Given the description of an element on the screen output the (x, y) to click on. 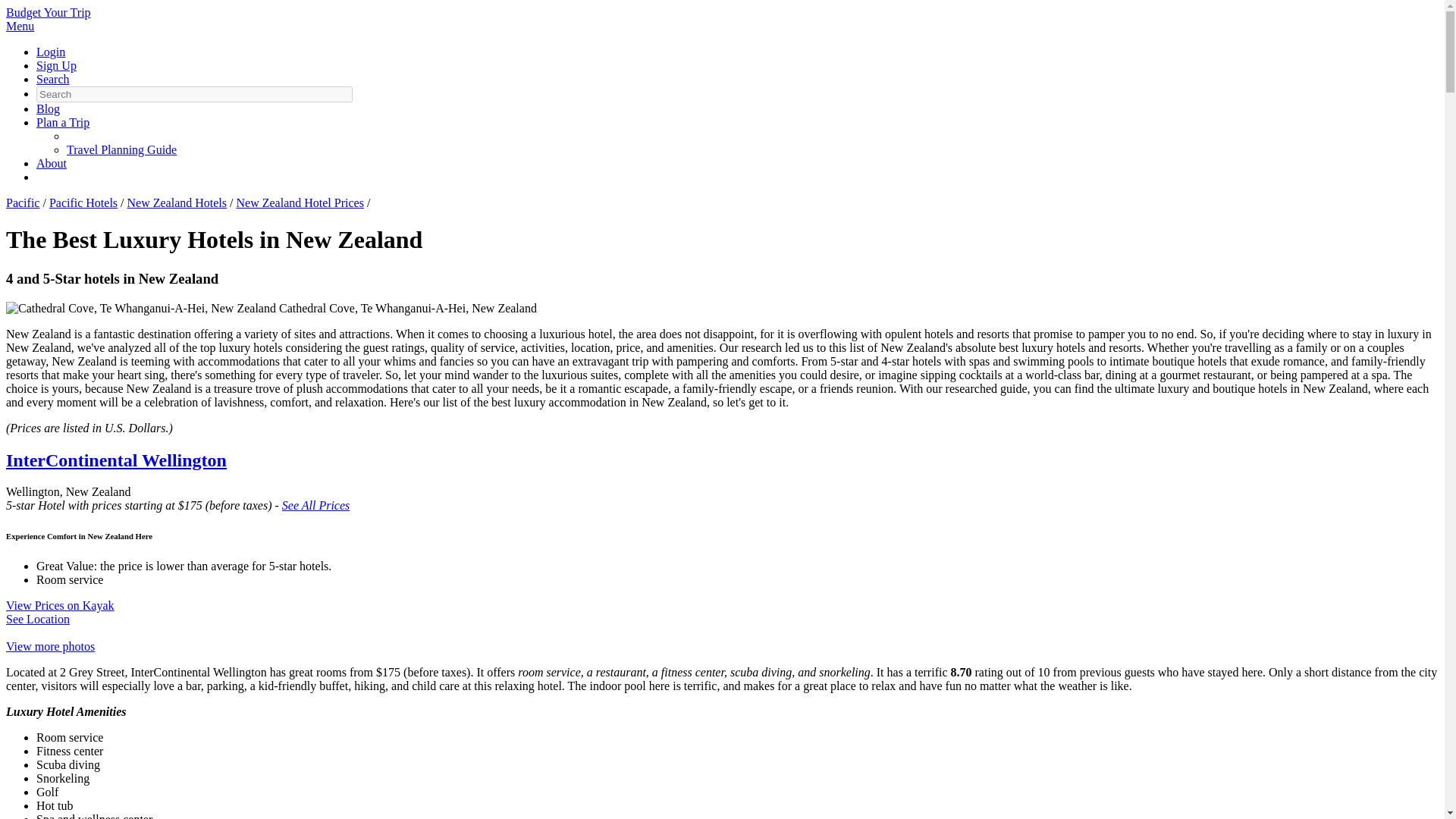
Menu (19, 25)
See Location (37, 618)
Search (52, 78)
New Zealand Hotel Prices (299, 202)
Pacific Hotels (83, 202)
About (51, 163)
Budget Your Trip (47, 11)
Travel Planning Guide (121, 149)
Sign Up (56, 65)
Login (50, 51)
InterContinental Wellington (116, 460)
Pacific (22, 202)
View Prices on Kayak (60, 604)
New Zealand Hotels (177, 202)
Blog (47, 108)
